Given the description of an element on the screen output the (x, y) to click on. 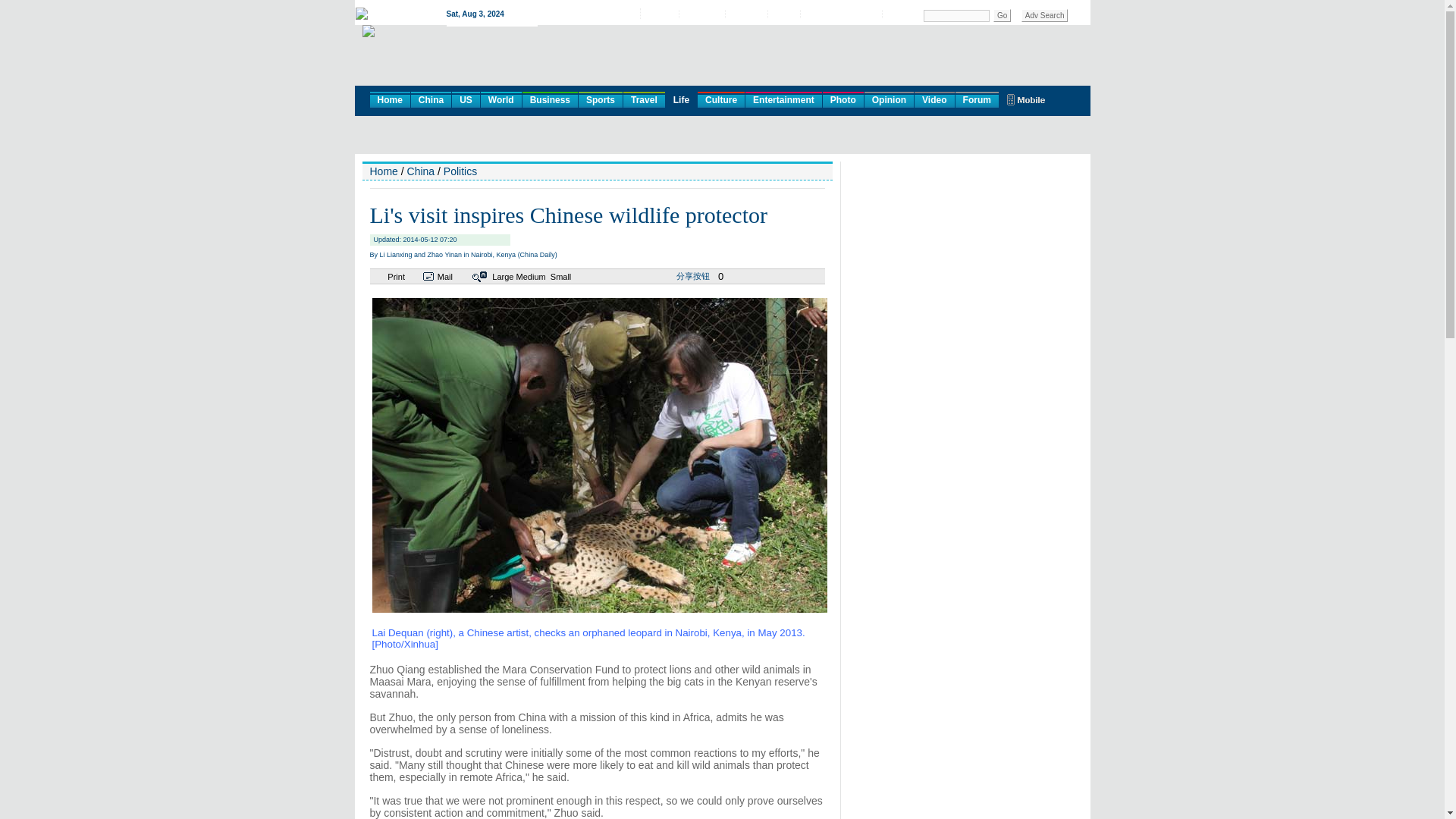
Sports (600, 99)
China (430, 99)
Travel (644, 99)
Home (389, 99)
US (465, 99)
World (500, 99)
Business (550, 99)
